Given the description of an element on the screen output the (x, y) to click on. 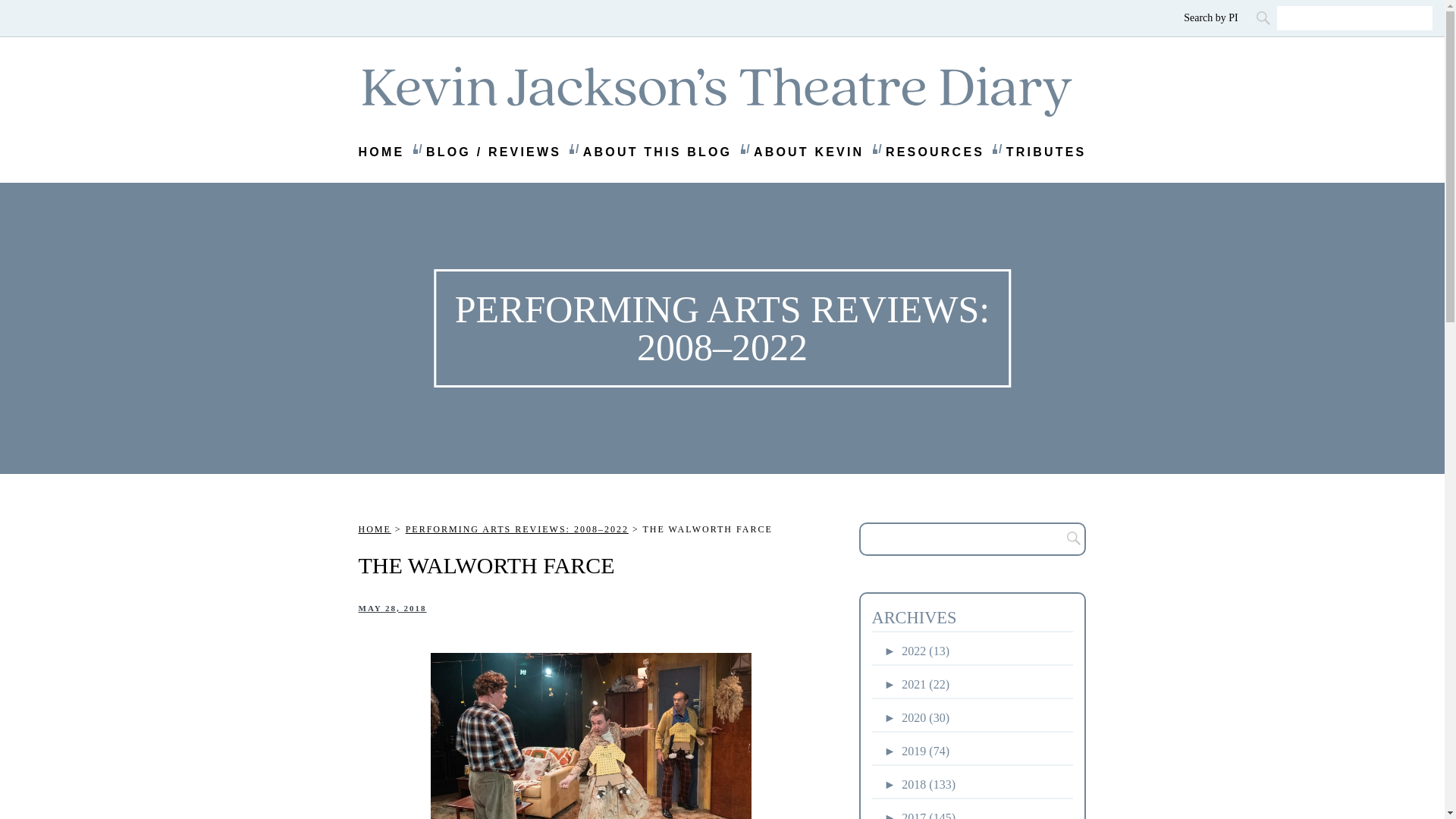
HOME (374, 529)
HOME (381, 152)
RESOURCES (934, 152)
Search (1069, 539)
ABOUT THIS BLOG (657, 152)
2022 (916, 650)
TRIBUTES (1046, 152)
Search (1264, 17)
ABOUT KEVIN (808, 152)
MAY 28, 2018 (392, 607)
